Given the description of an element on the screen output the (x, y) to click on. 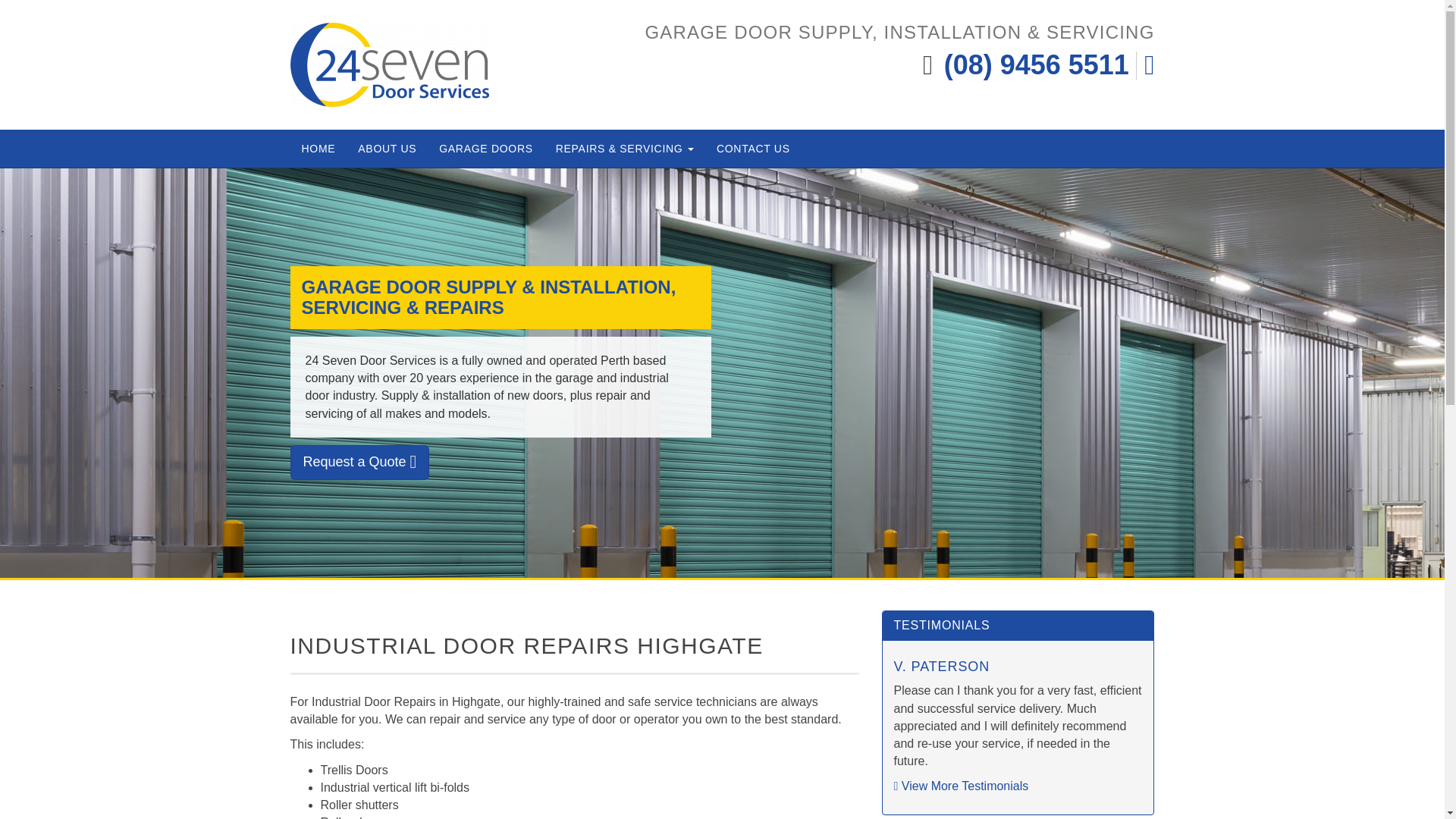
ABOUT US (387, 148)
About Us (387, 148)
View More Testimonials (960, 785)
GARAGE DOORS (486, 148)
24 Seven Door Services Logo (389, 64)
V. PATERSON (941, 666)
Garage Doors (486, 148)
CONTACT US (753, 148)
Request a Quote (359, 462)
HOME (317, 148)
Contact Us (753, 148)
Home (317, 148)
